Given the description of an element on the screen output the (x, y) to click on. 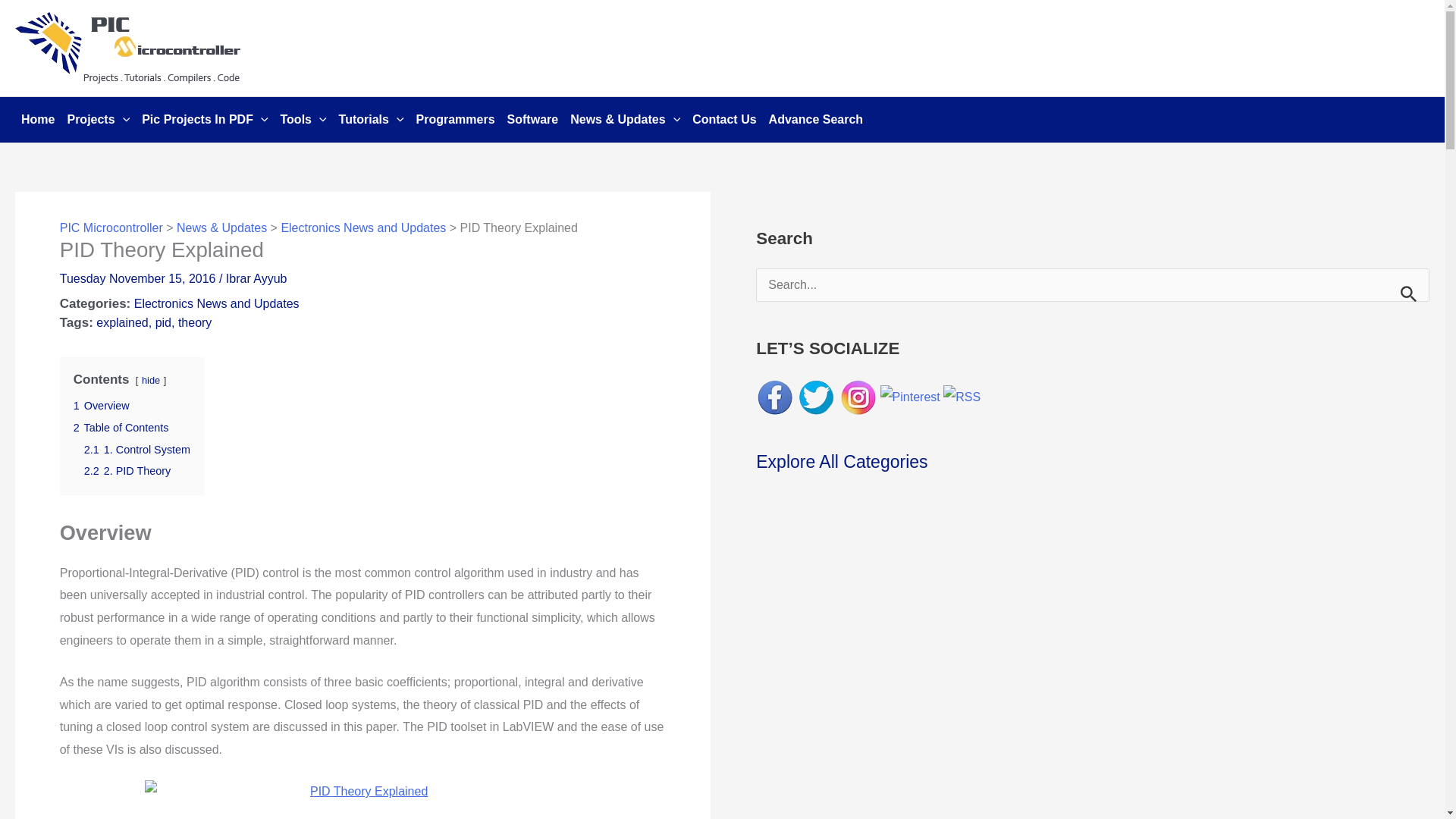
Click to view drop down menu (98, 119)
Go to PIC Microcontroller. (111, 227)
Pic Projects In PDF (204, 119)
Programmers (455, 119)
Tutorials (371, 119)
Projects (98, 119)
Go to the Electronics News and Updates Category archives. (363, 227)
Home (37, 119)
Software (532, 119)
Tools (304, 119)
